Given the description of an element on the screen output the (x, y) to click on. 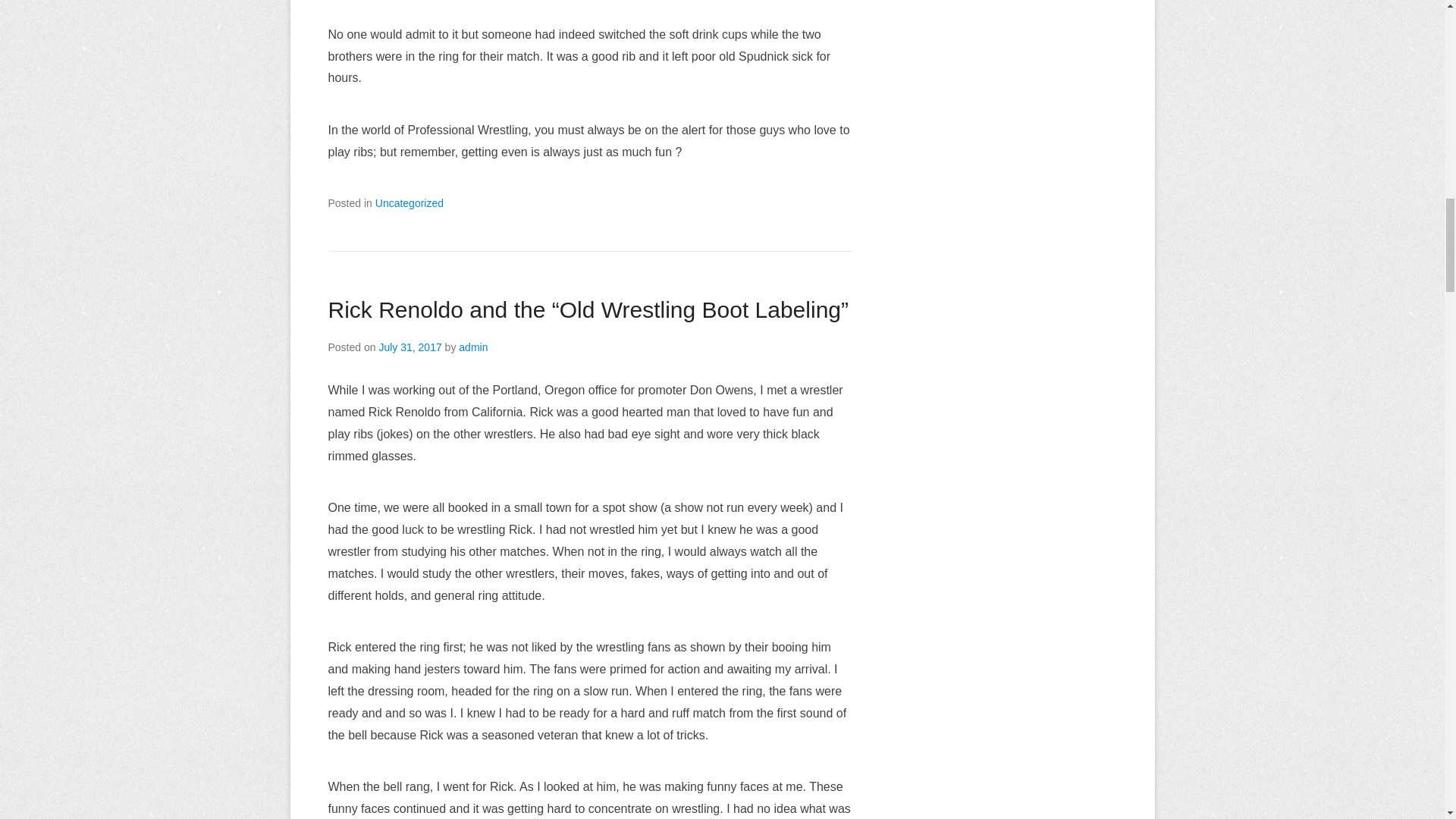
4:53 pm (409, 346)
Uncategorized (409, 203)
View all posts by admin (472, 346)
July 31, 2017 (409, 346)
admin (472, 346)
